Given the description of an element on the screen output the (x, y) to click on. 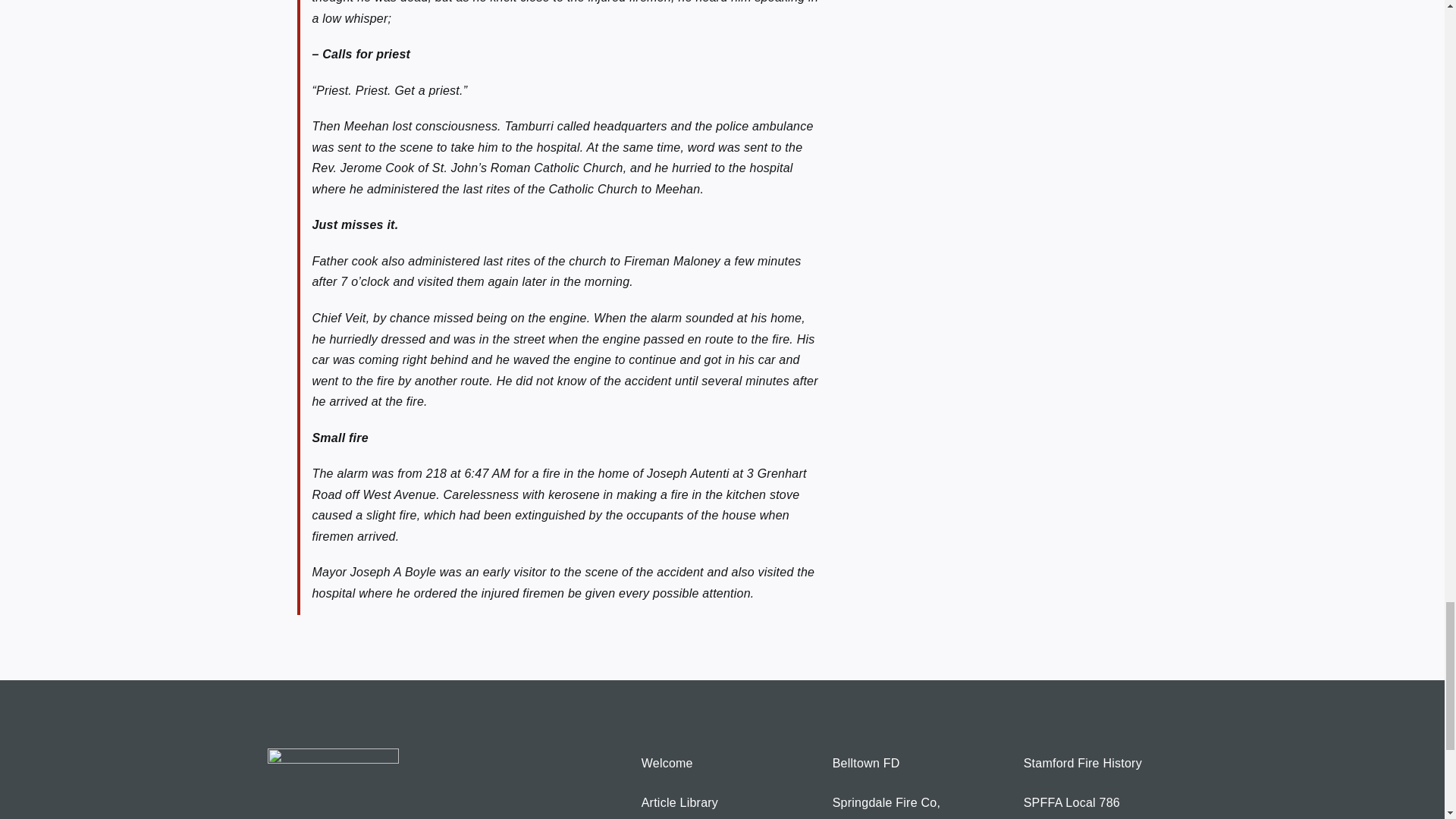
Stamford FD seal black gold small (331, 783)
